Given the description of an element on the screen output the (x, y) to click on. 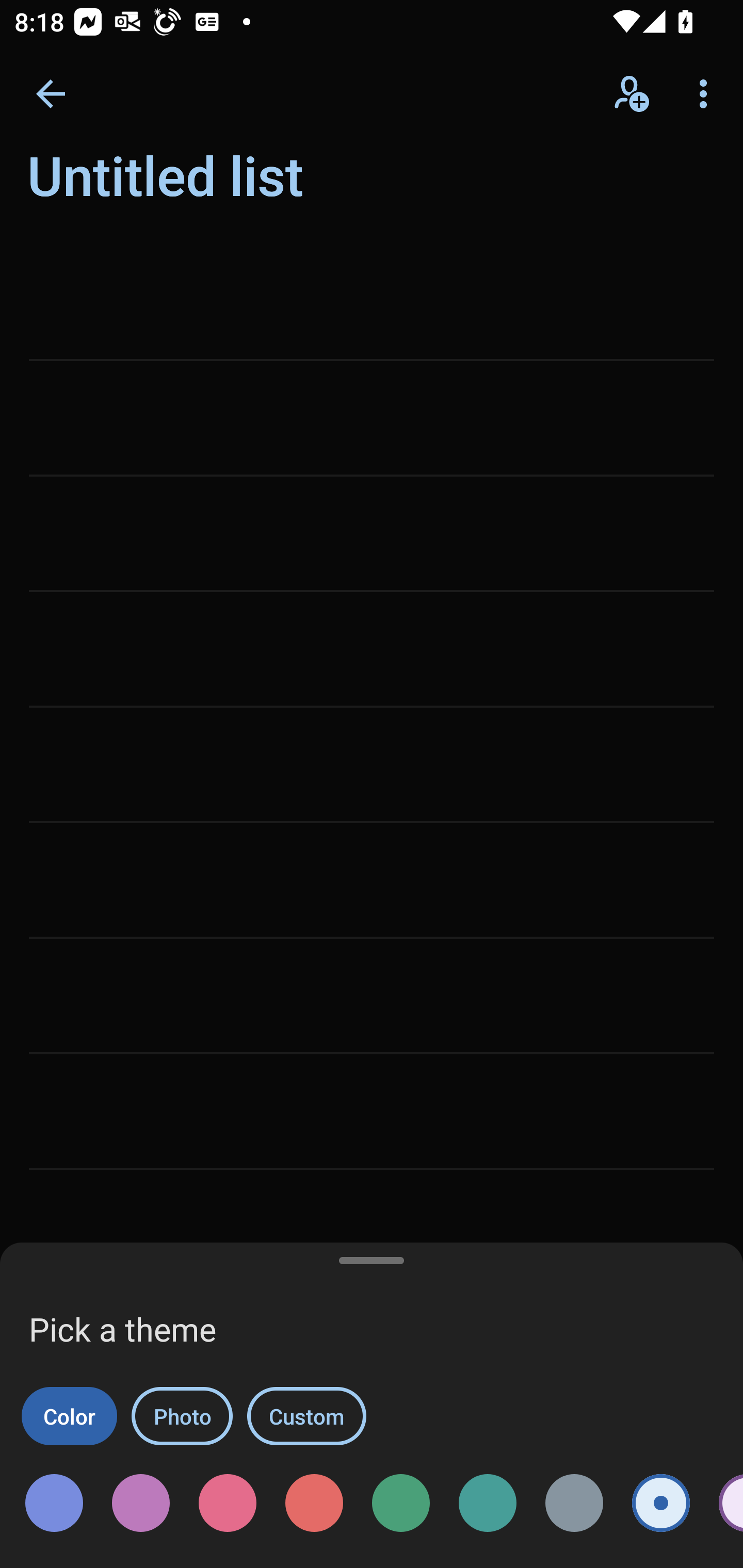
Color Color category (69, 1416)
Photo Photo category (181, 1416)
Custom Custom category (306, 1416)
Dark blue (54, 1502)
Dark purple (140, 1502)
Dark rose (227, 1502)
Dark red (314, 1502)
Dark green (400, 1502)
Dark teal (487, 1502)
Dark grey (574, 1502)
Selected, Light blue (660, 1502)
